Given the description of an element on the screen output the (x, y) to click on. 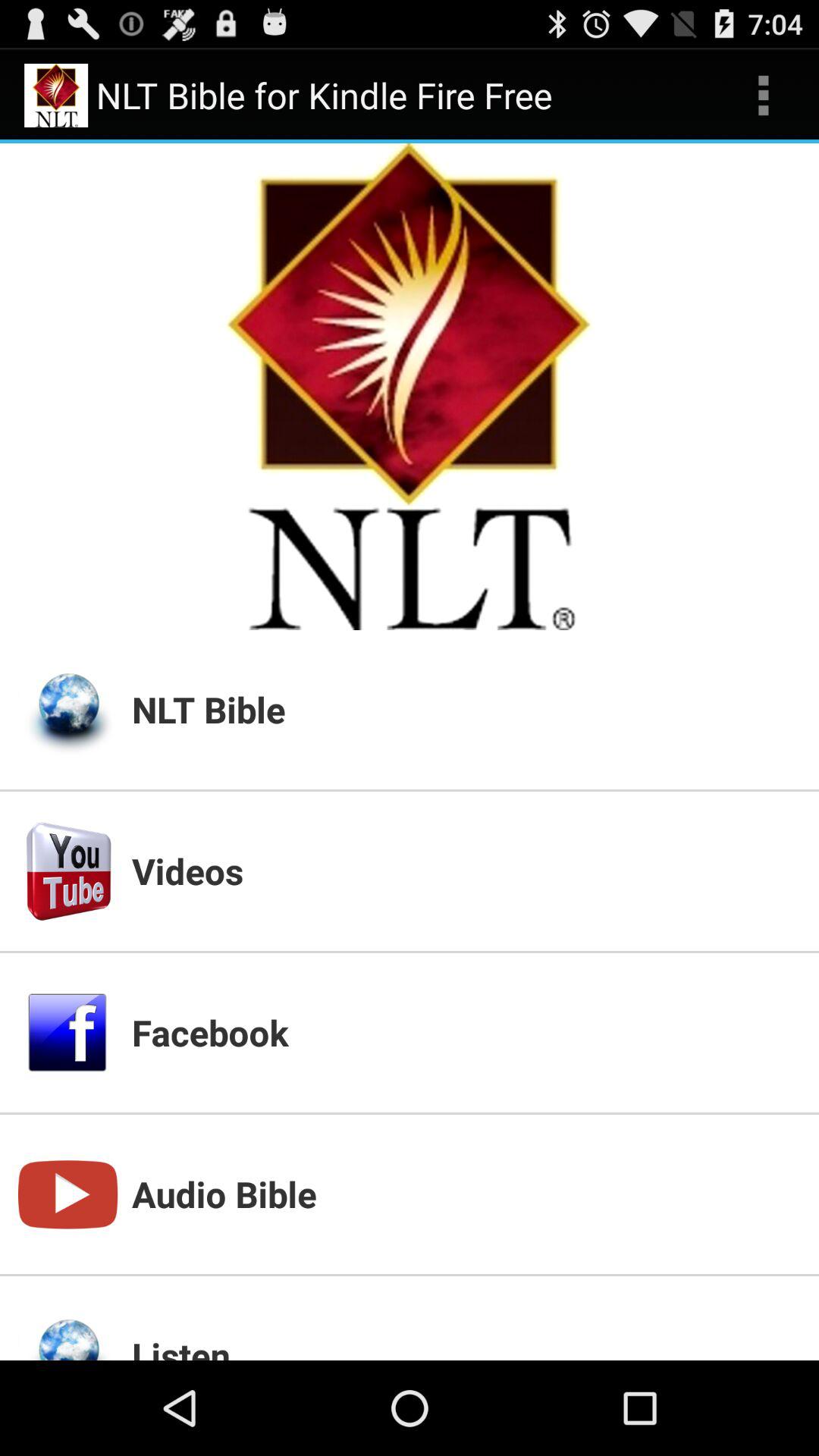
tap the app above the audio bible icon (465, 1032)
